Given the description of an element on the screen output the (x, y) to click on. 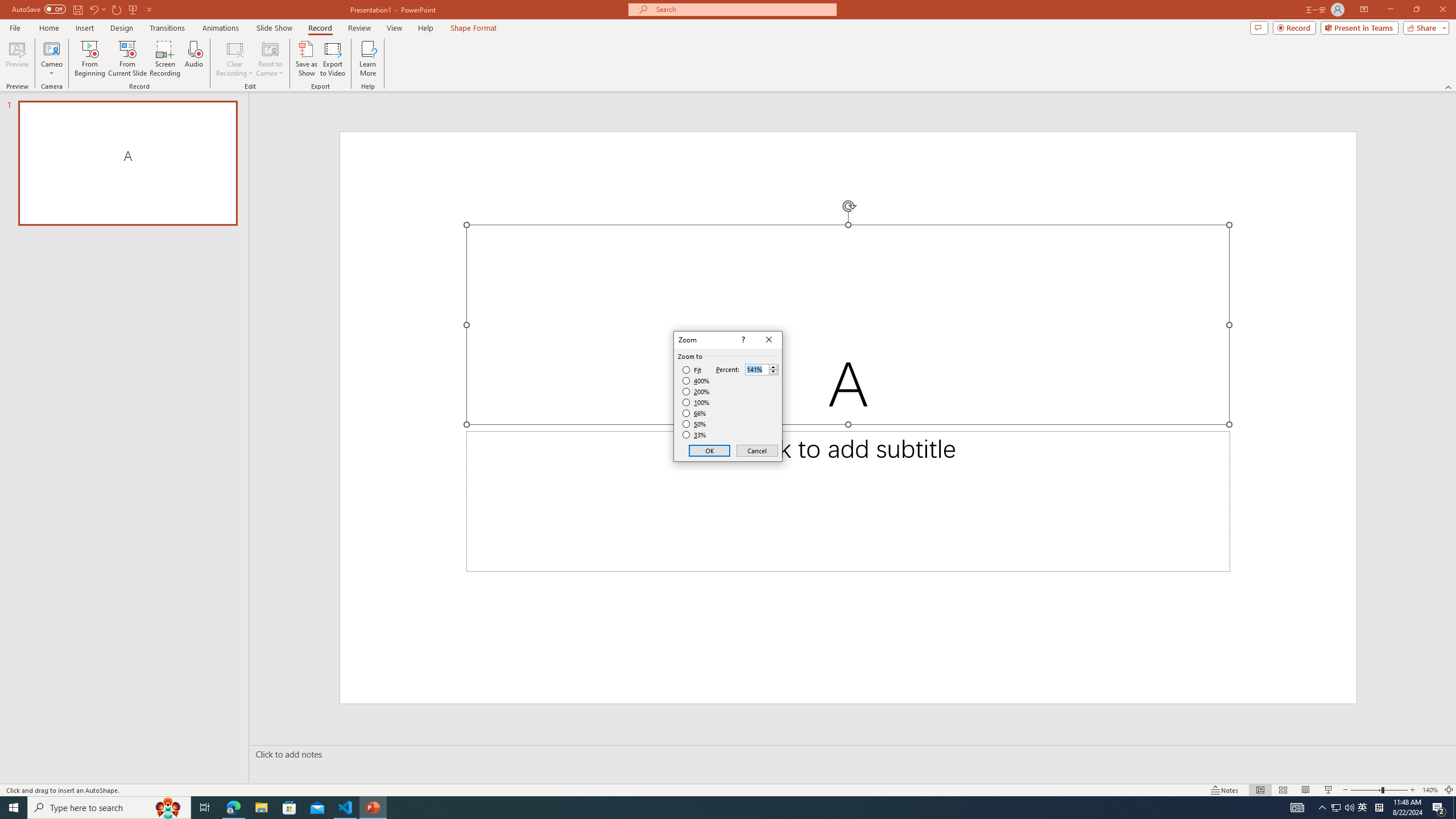
OK (709, 450)
